Given the description of an element on the screen output the (x, y) to click on. 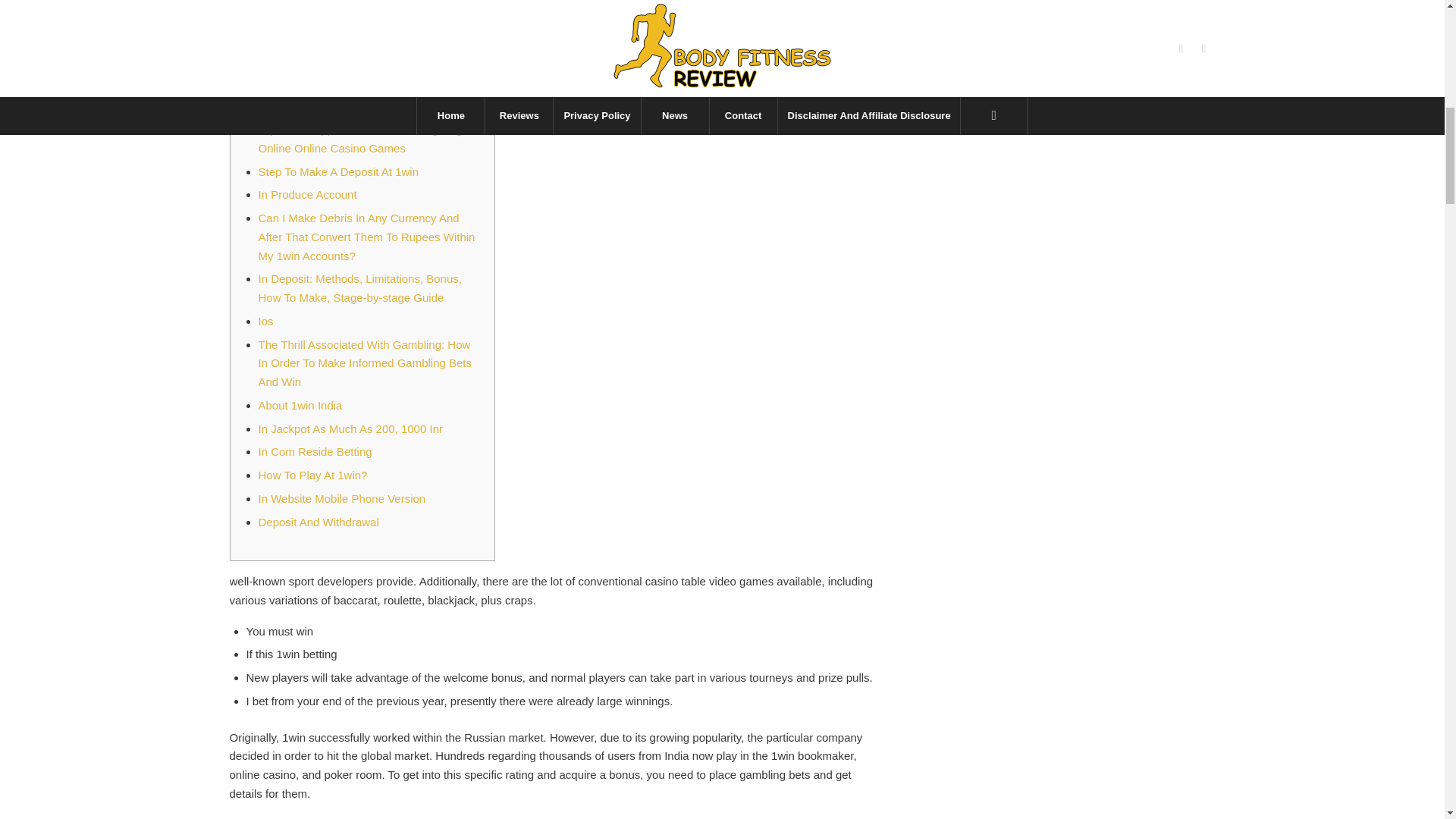
How To Play At 1win? (311, 474)
In Casino Review (301, 35)
In Produce Account (306, 194)
In Casino App Review (313, 59)
Step To Make A Deposit At 1win (338, 171)
In Com Reside Betting (314, 451)
Select Typically The Currency (332, 82)
In Jackpot As Much As 200, 1000 Inr (349, 428)
Ios (265, 320)
About 1win India (299, 404)
Enter The Promo Code (315, 11)
